Given the description of an element on the screen output the (x, y) to click on. 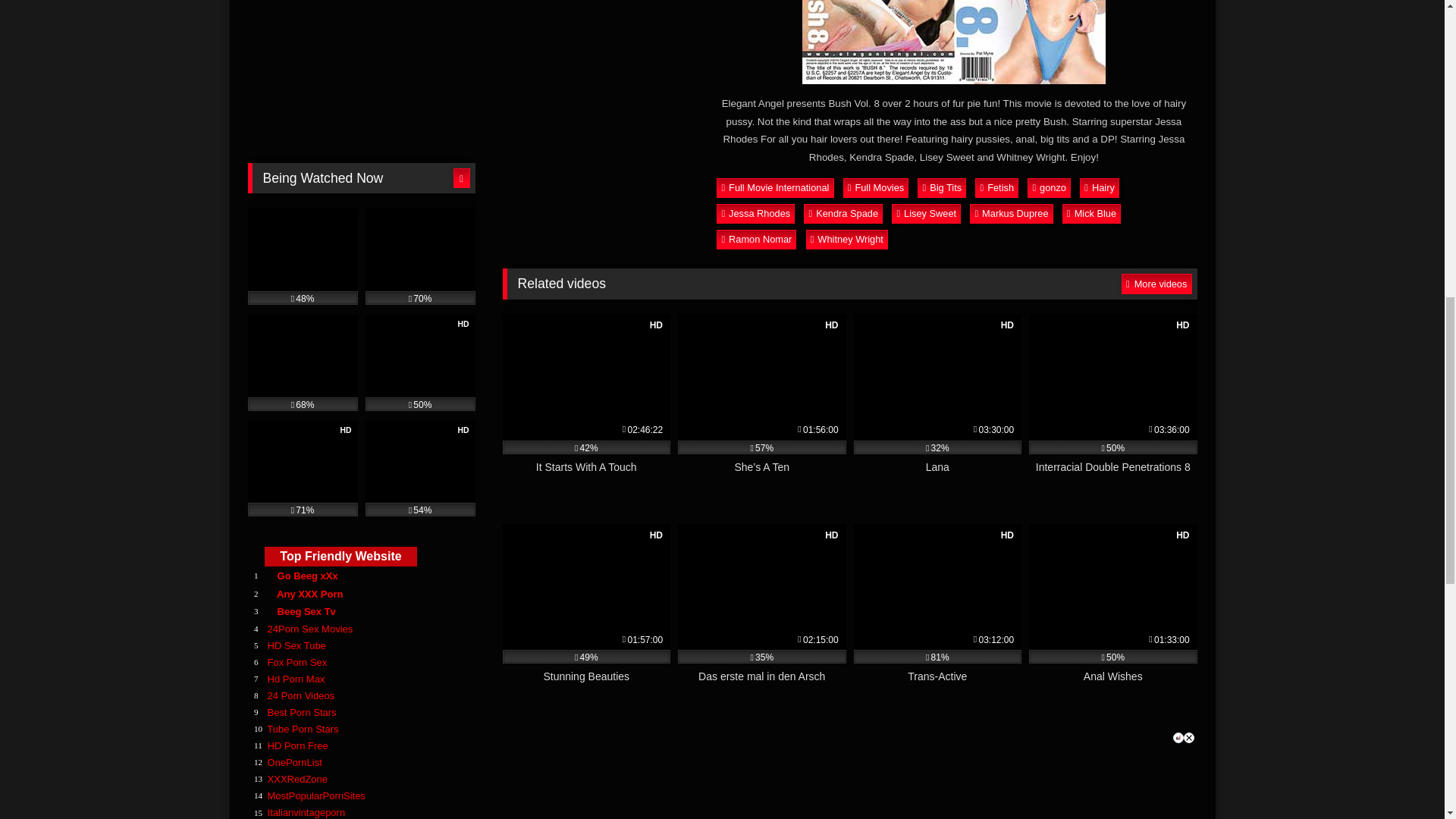
Fetish (996, 188)
Lisey Sweet (925, 213)
Big Tits (941, 188)
Kendra Spade (842, 213)
Ramon Nomar (756, 239)
More videos (1156, 535)
Full Movies (875, 188)
Mick Blue (1091, 213)
gonzo (1048, 188)
Whitney Wright (847, 239)
